Given the description of an element on the screen output the (x, y) to click on. 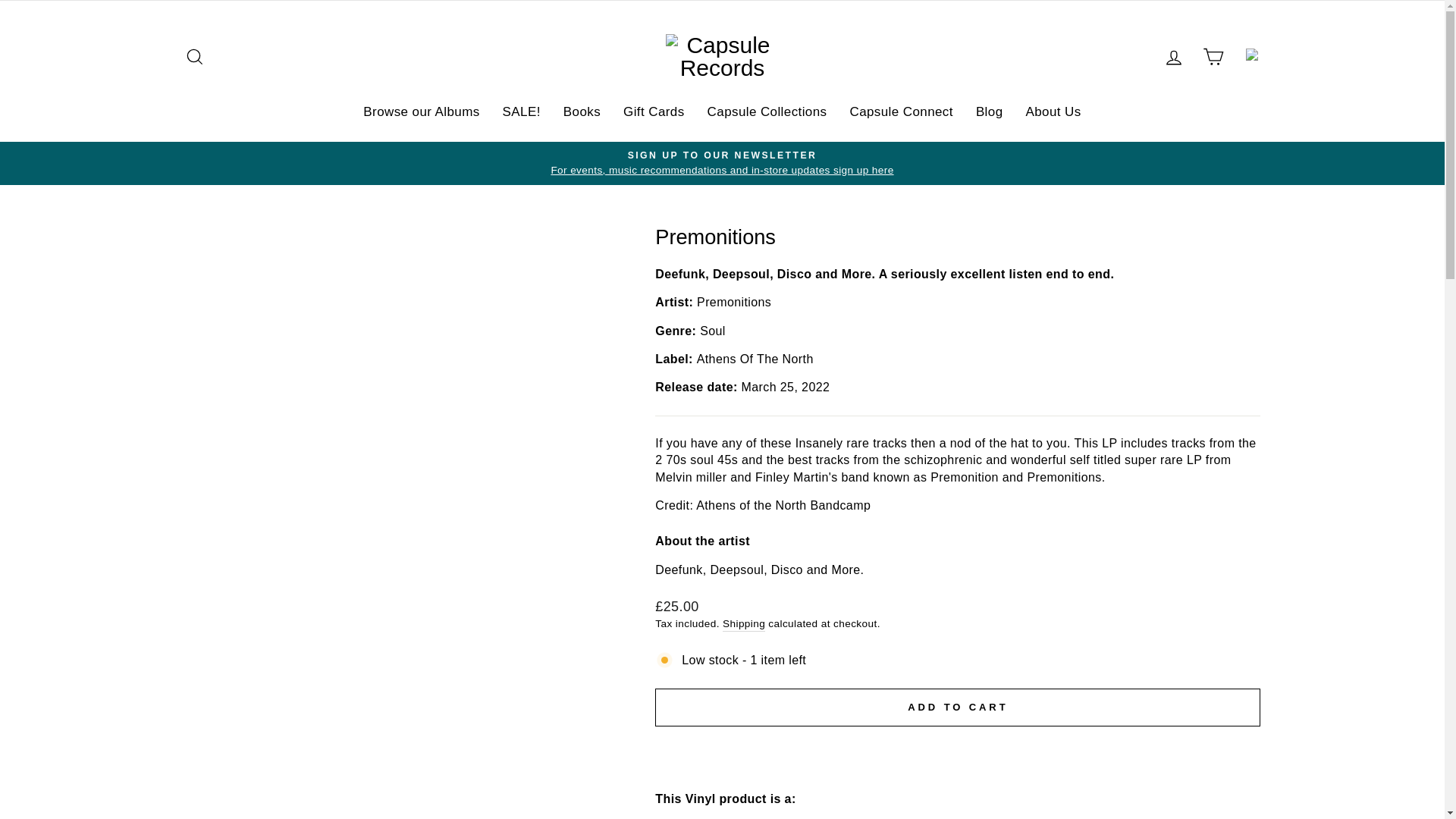
Search (194, 56)
Cart (1213, 56)
Log in (1173, 56)
